Given the description of an element on the screen output the (x, y) to click on. 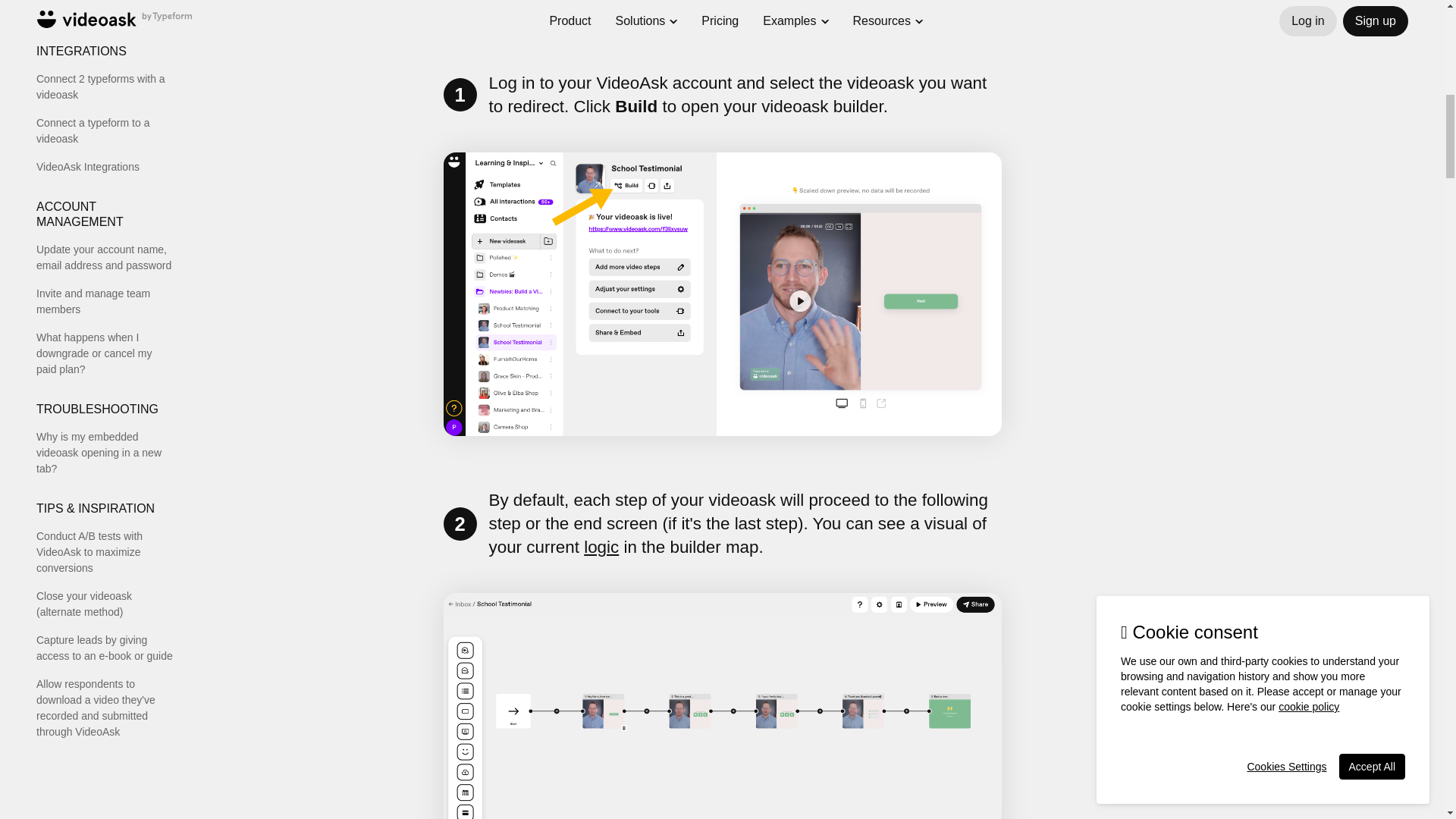
VideoAsk Integrations (105, 166)
Explore the advanced settings of your videoask (105, 9)
What happens when I downgrade or cancel my paid plan? (105, 353)
Connect 2 typeforms with a videoask (105, 87)
Invite and manage team members (105, 301)
Connect a typeform to a videoask (105, 131)
Update your account name, email address and password (105, 257)
